Given the description of an element on the screen output the (x, y) to click on. 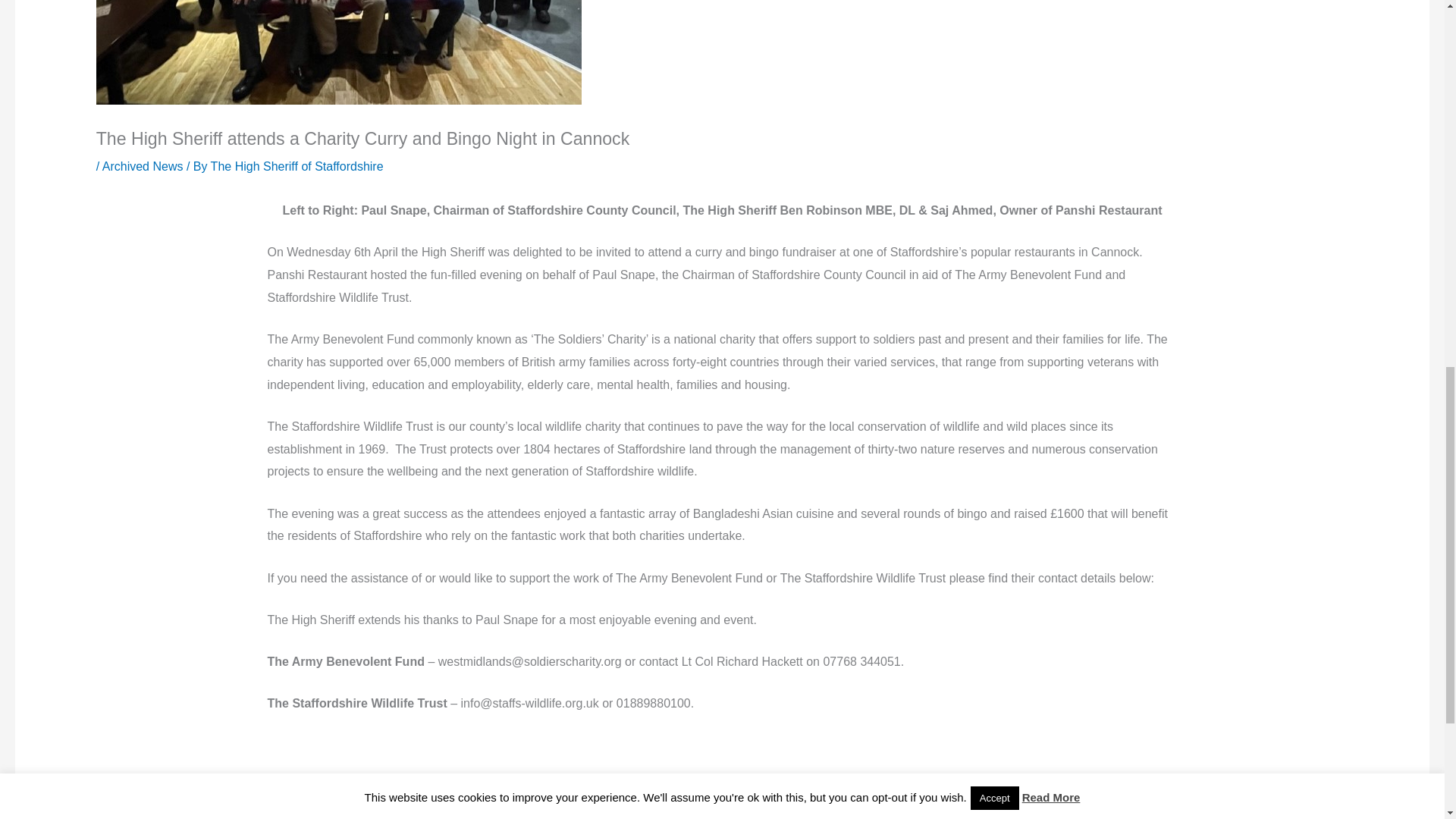
Archived News (142, 165)
View all posts by The High Sheriff of Staffordshire (297, 165)
The High Sheriff of Staffordshire (297, 165)
